Given the description of an element on the screen output the (x, y) to click on. 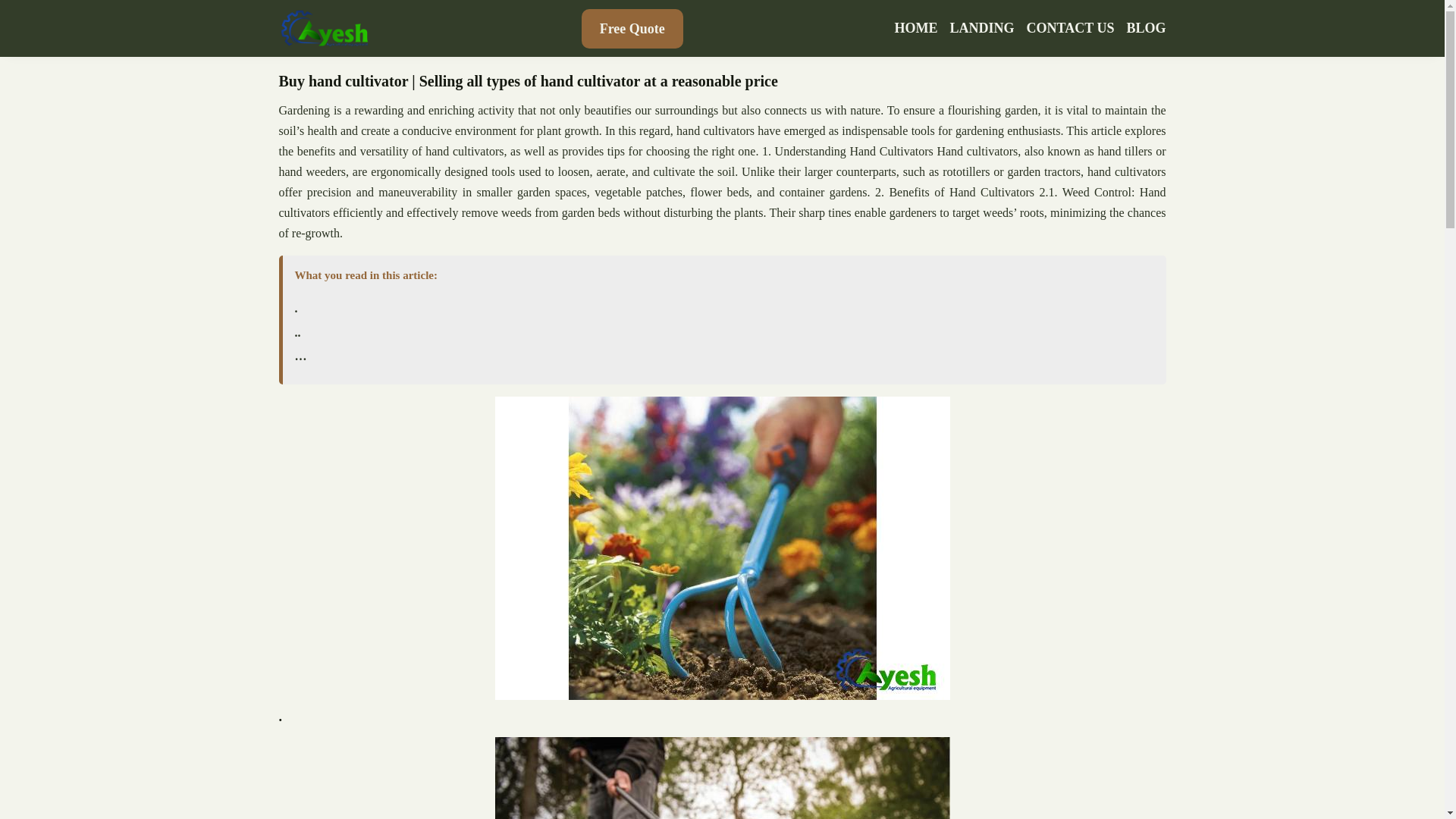
BLOG (1145, 28)
Free Quote (631, 28)
LANDING (982, 28)
CONTACT US (1070, 28)
HOME (916, 28)
